Given the description of an element on the screen output the (x, y) to click on. 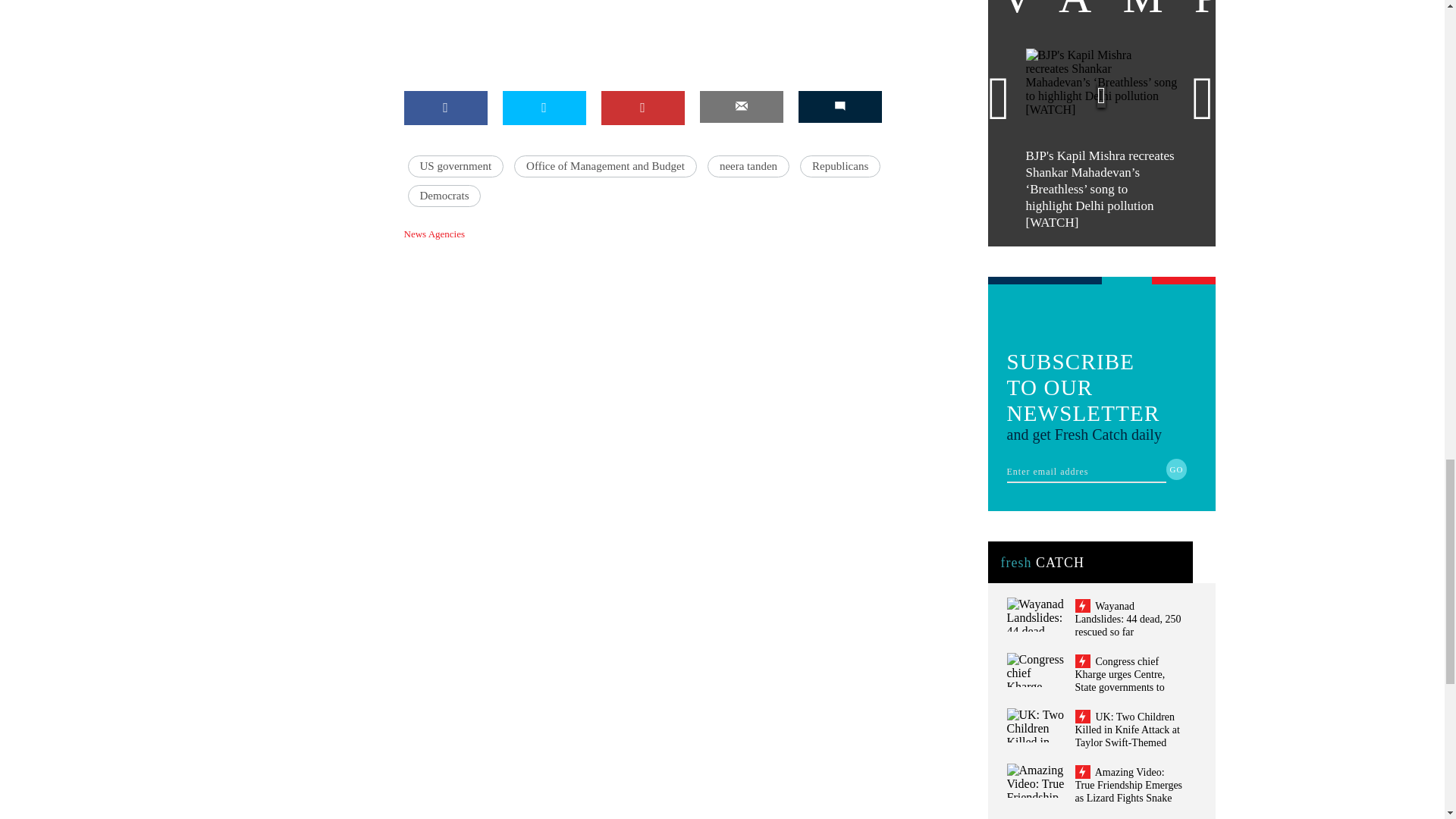
Office of Management and Budget  (605, 166)
Democrats (444, 196)
neera tanden (748, 166)
Republicans (839, 166)
US government (455, 166)
GO (1177, 468)
